Given the description of an element on the screen output the (x, y) to click on. 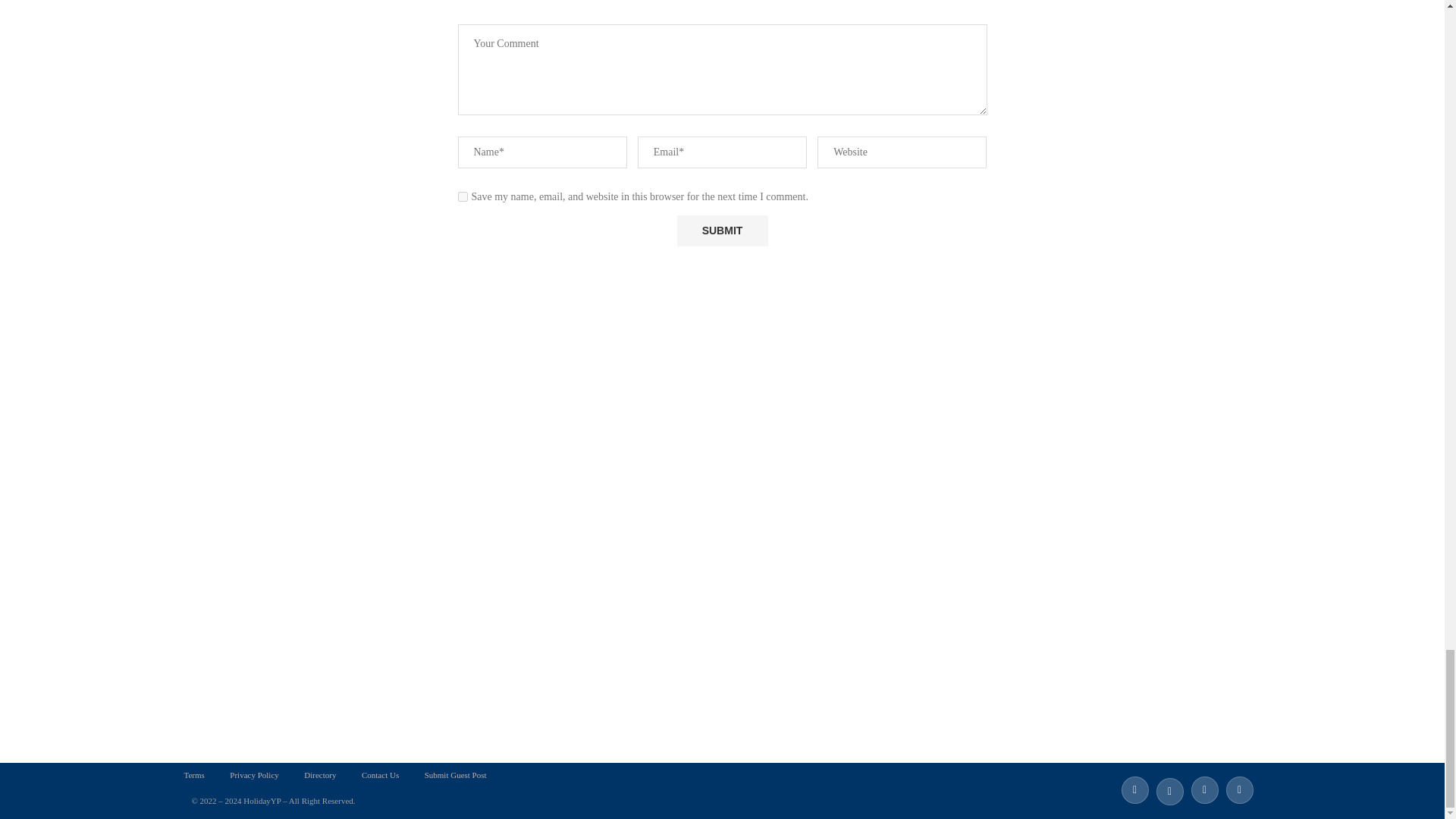
Submit (722, 230)
yes (462, 196)
